Given the description of an element on the screen output the (x, y) to click on. 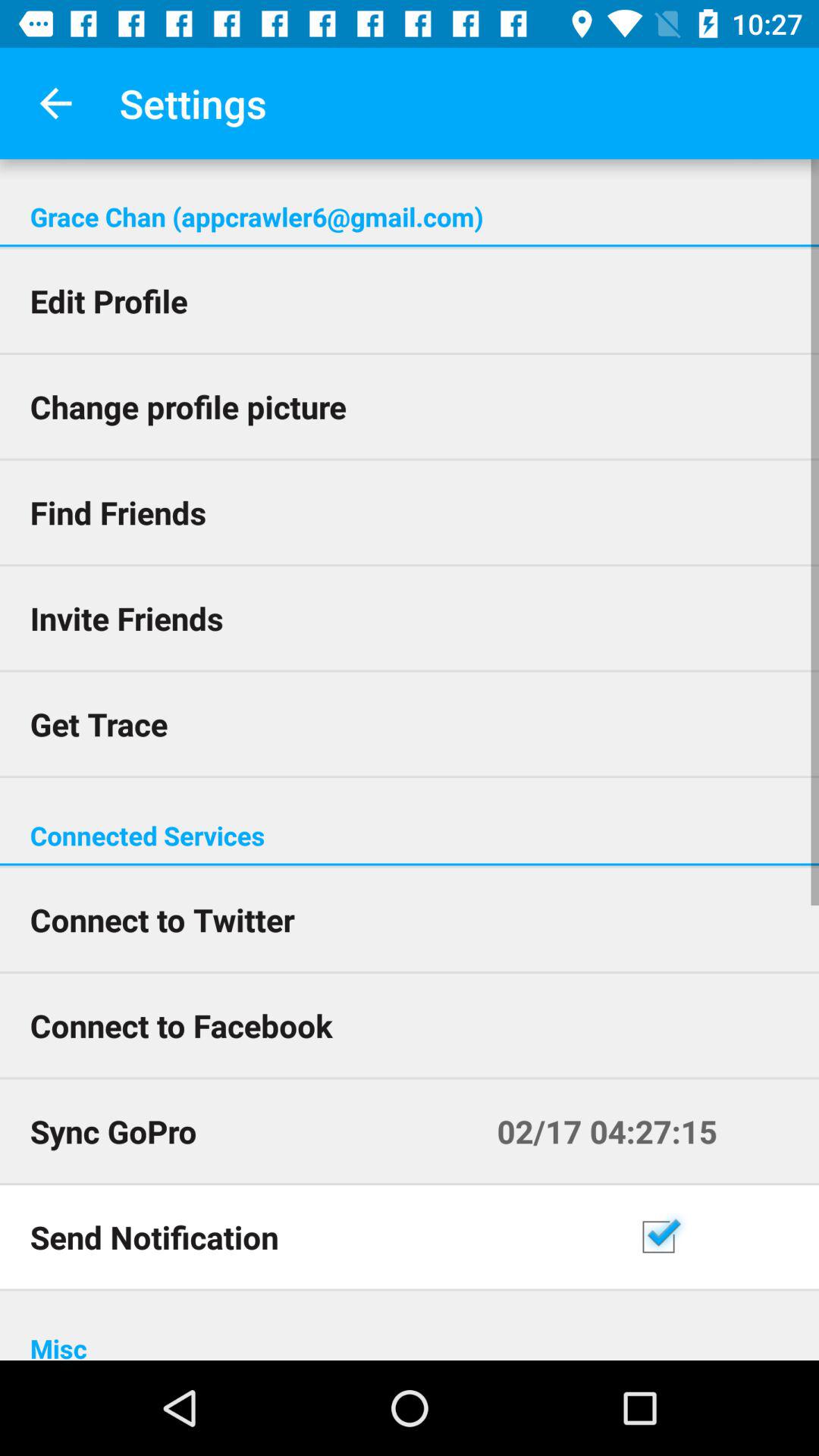
press the item below sync gopro icon (318, 1236)
